Given the description of an element on the screen output the (x, y) to click on. 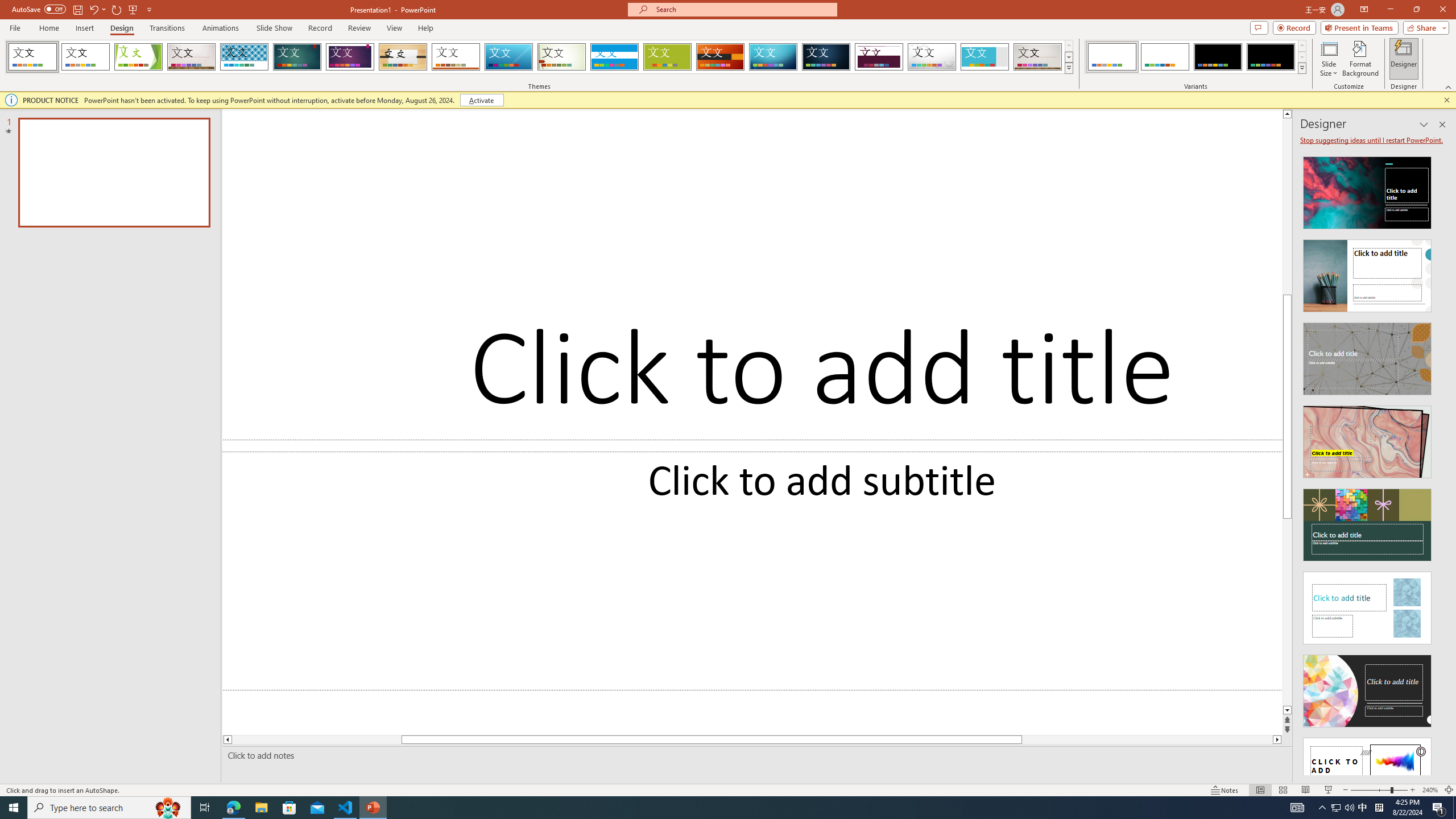
Format Background (1360, 58)
Facet (138, 56)
Berlin (720, 56)
Banded (614, 56)
Variants (1301, 67)
Circuit (772, 56)
